Given the description of an element on the screen output the (x, y) to click on. 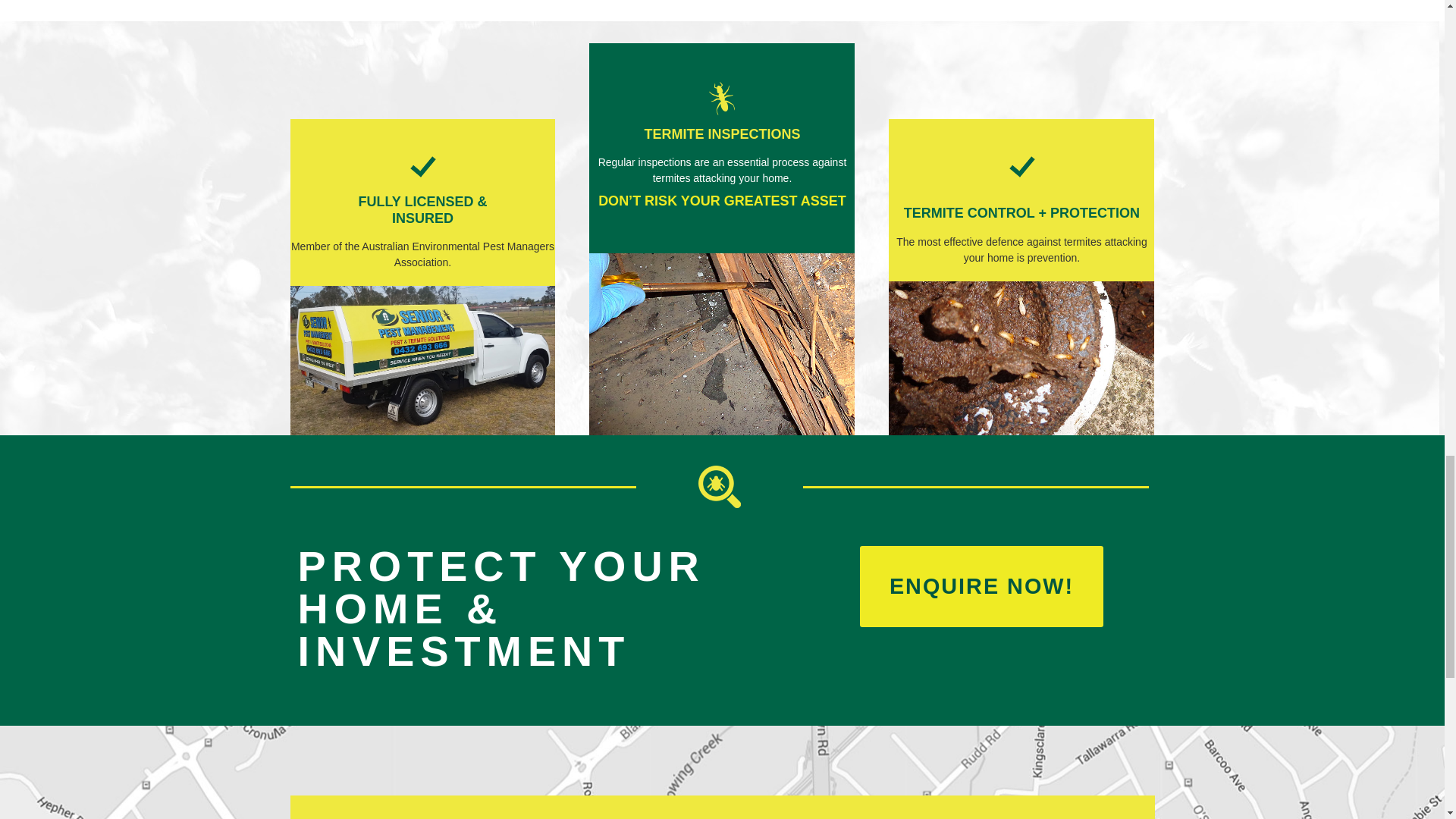
ENQUIRE NOW! (981, 586)
